Given the description of an element on the screen output the (x, y) to click on. 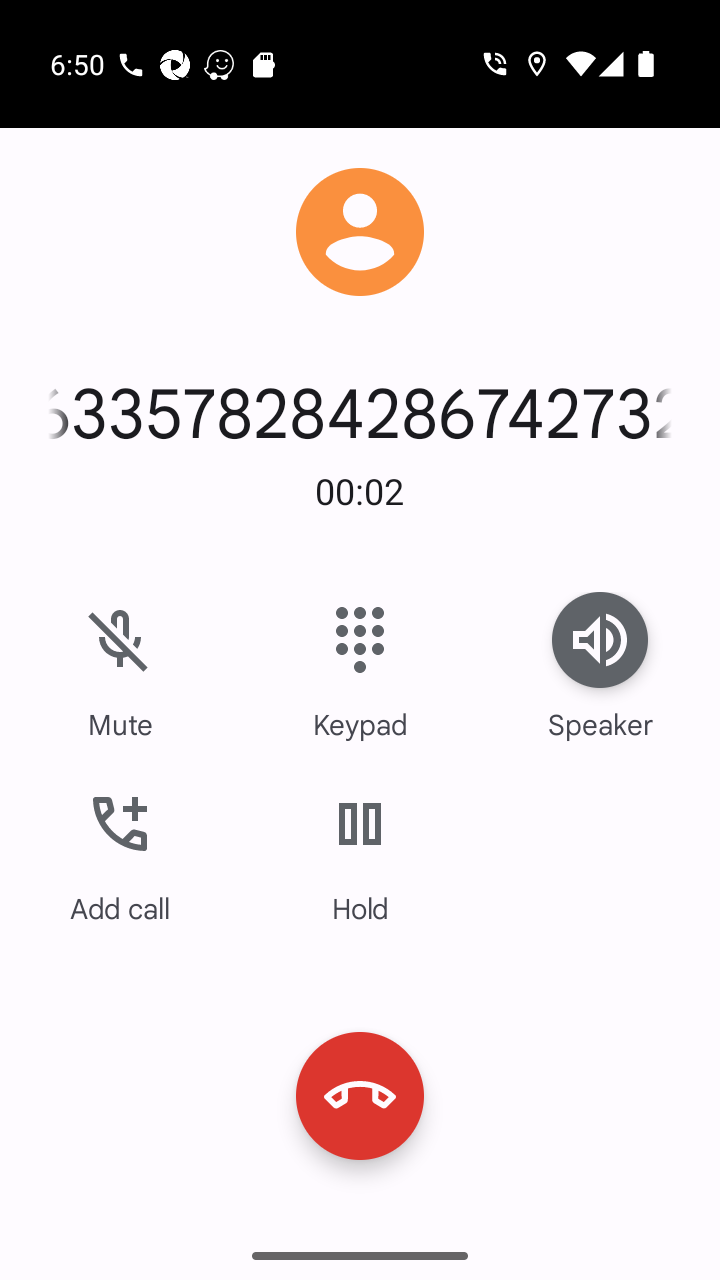
Unmuted Mute (119, 667)
Keypad (359, 667)
Speaker, is on Speaker (600, 667)
Add call (119, 851)
Hold call Hold (359, 851)
End call (359, 1095)
